Given the description of an element on the screen output the (x, y) to click on. 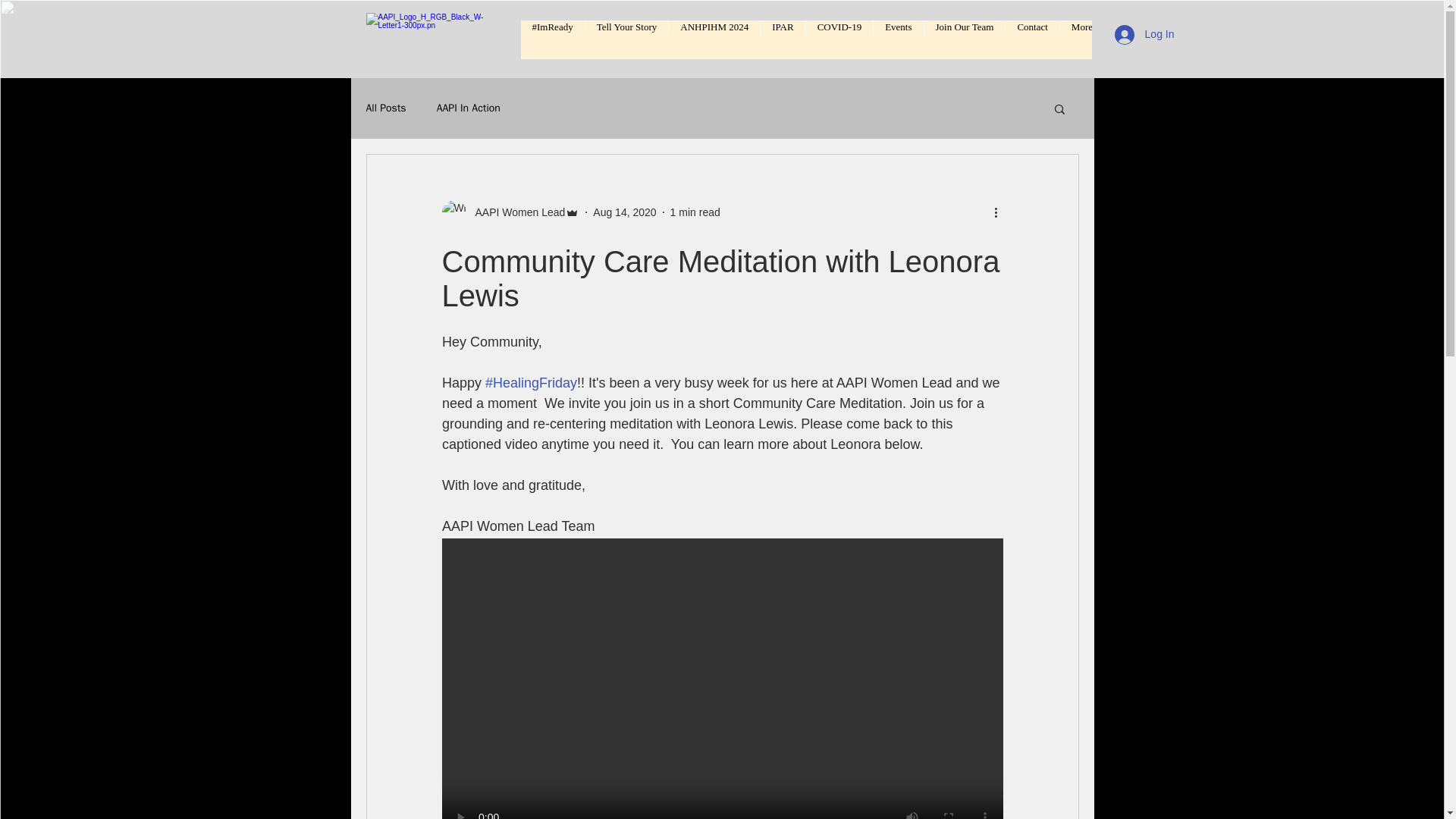
Aug 14, 2020 (624, 212)
1 min read (694, 212)
Contact (1031, 39)
Join Our Team (964, 39)
Log In (1144, 33)
AAPI In Action (468, 108)
AAPI Women Lead (510, 211)
IPAR (782, 39)
Tell Your Story (626, 39)
ANHPIHM 2024 (714, 39)
AAPI Women Lead (514, 212)
COVID-19 (839, 39)
All Posts (385, 108)
